Given the description of an element on the screen output the (x, y) to click on. 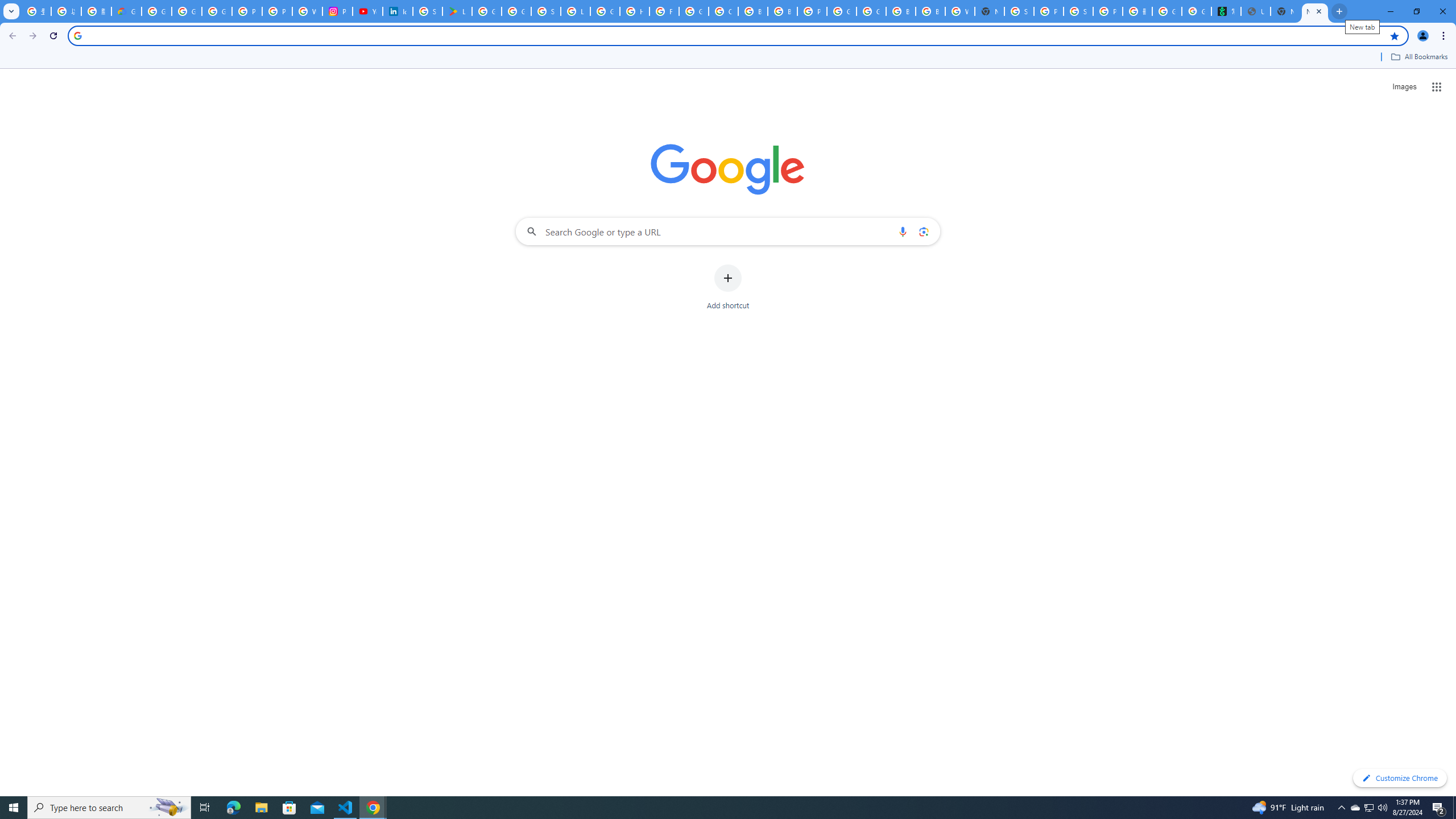
Sign in - Google Accounts (1018, 11)
Search Google or type a URL (727, 230)
Untitled (1255, 11)
Google Cloud Platform (871, 11)
Privacy Help Center - Policies Help (277, 11)
